Given the description of an element on the screen output the (x, y) to click on. 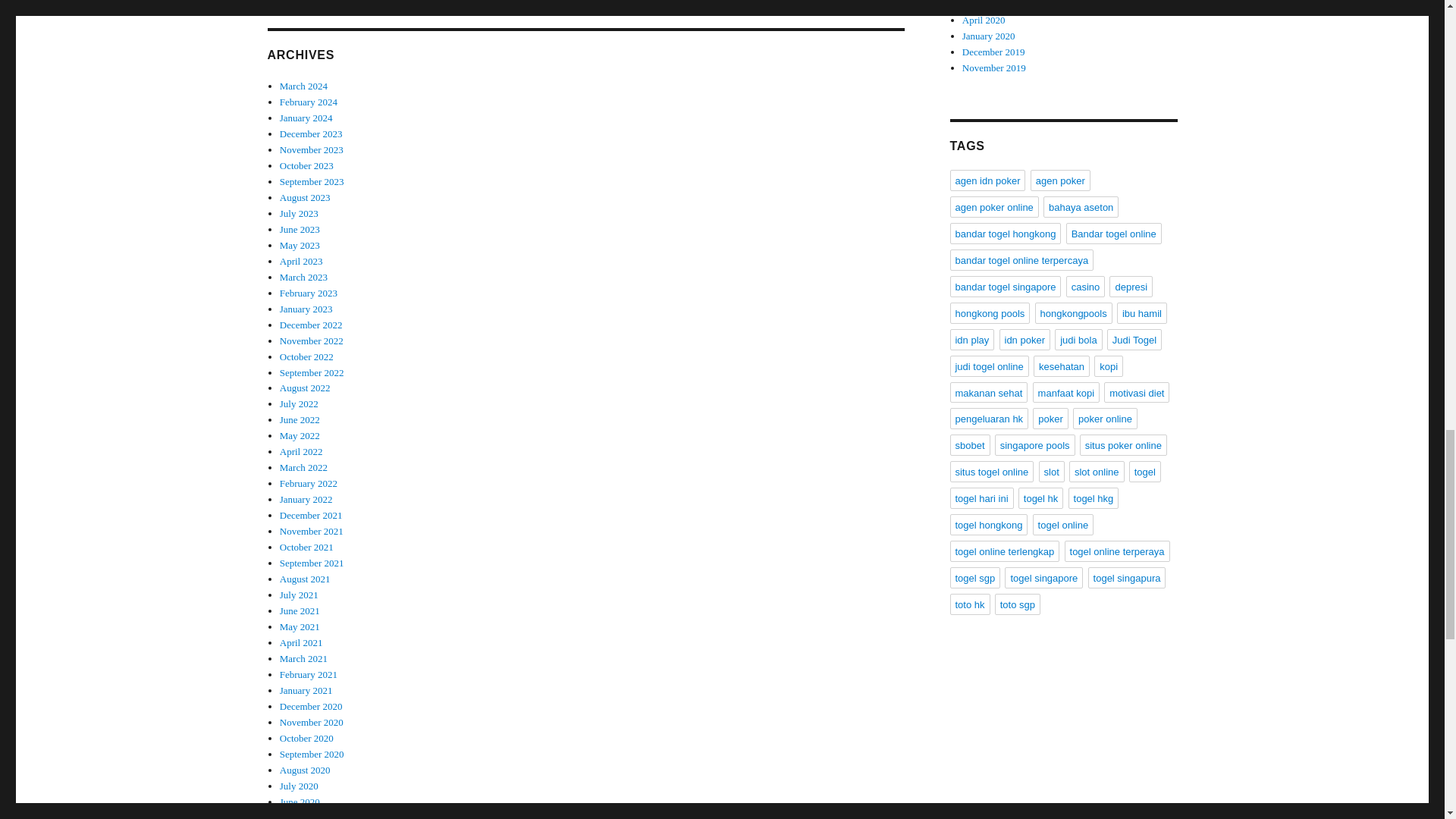
January 2023 (306, 308)
February 2023 (308, 292)
June 2023 (299, 229)
July 2022 (298, 403)
September 2022 (311, 372)
February 2022 (308, 482)
May 2023 (299, 244)
October 2022 (306, 356)
December 2022 (310, 324)
August 2022 (304, 387)
